Given the description of an element on the screen output the (x, y) to click on. 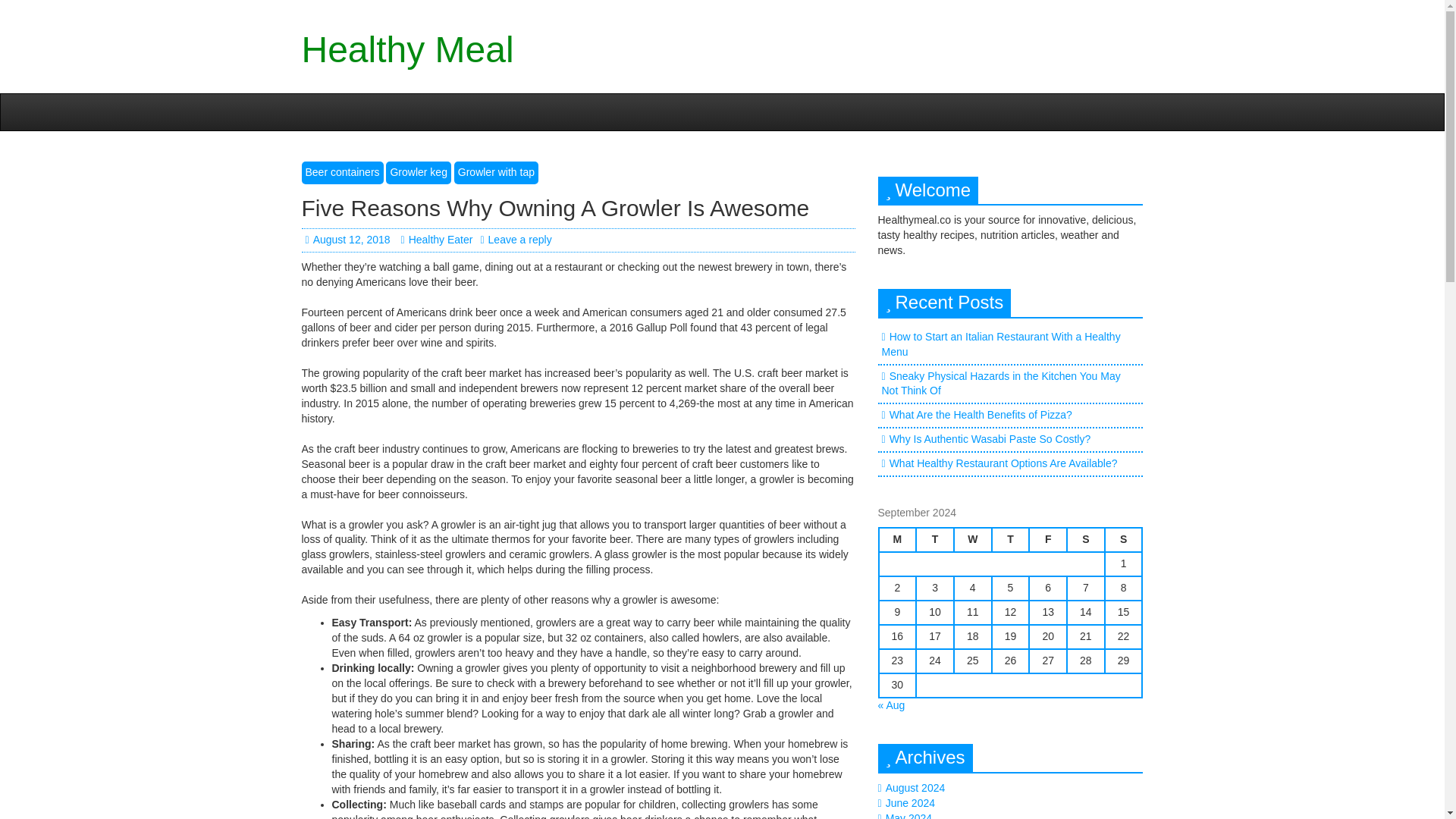
What Healthy Restaurant Options Are Available? (1003, 463)
August 12, 2018 (347, 239)
Wednesday (972, 539)
Growler with tap (496, 172)
Monday (896, 539)
Friday (1048, 539)
Tuesday (934, 539)
Healthy Eater (435, 239)
What Are the Health Benefits of Pizza? (980, 414)
Beer containers (342, 172)
